Given the description of an element on the screen output the (x, y) to click on. 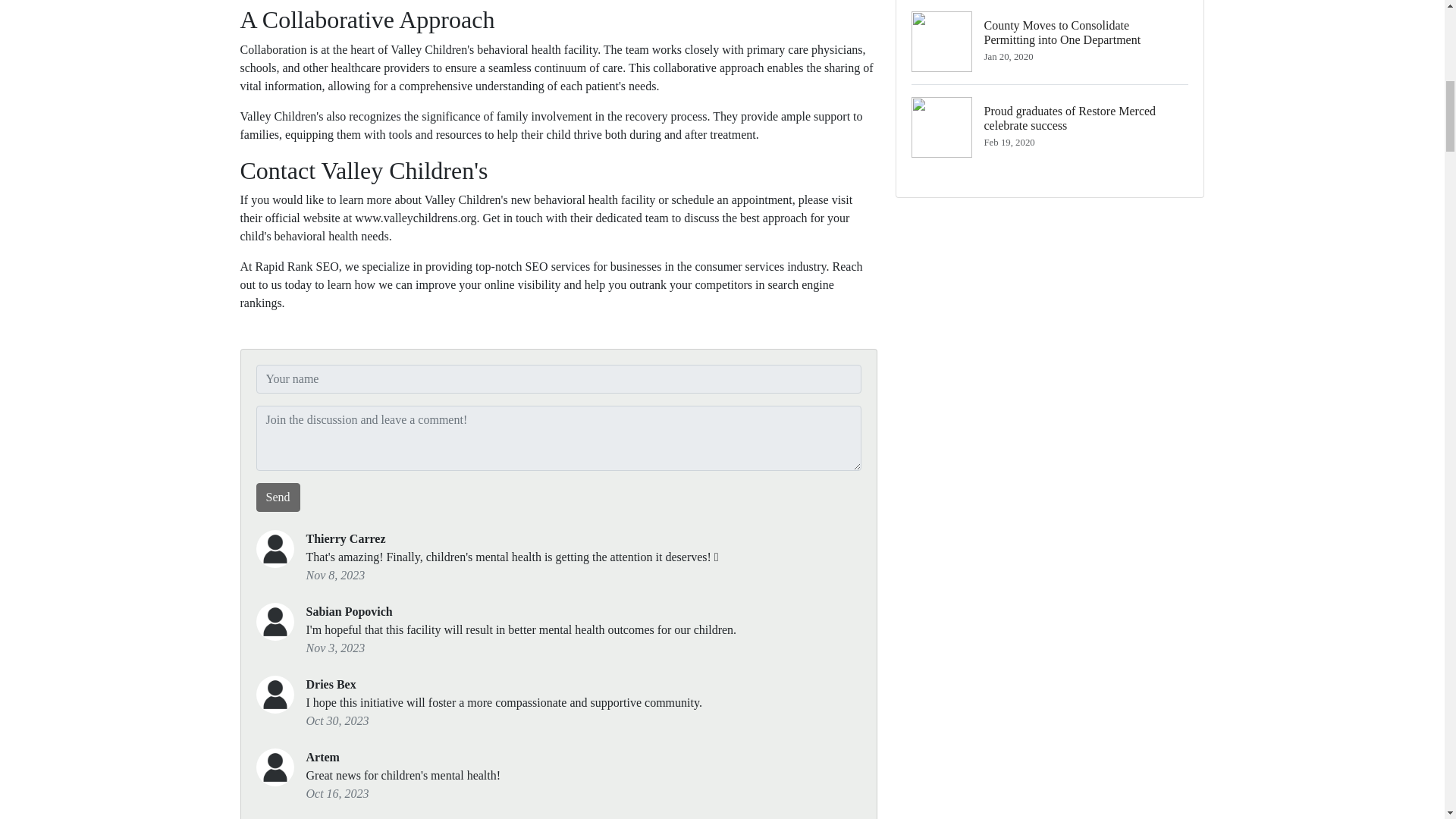
Send (277, 497)
Send (277, 497)
